Given the description of an element on the screen output the (x, y) to click on. 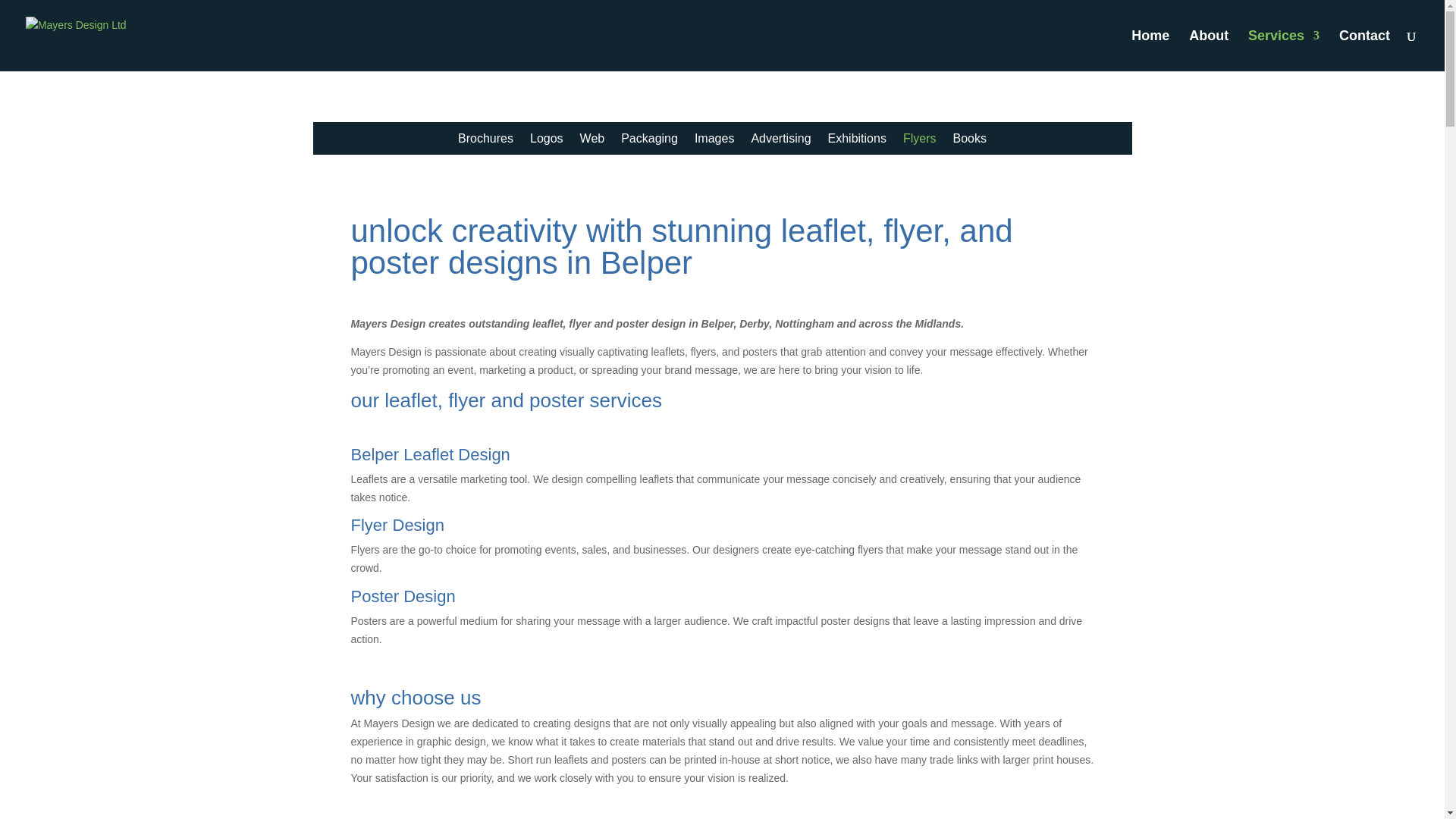
Advertising (780, 140)
Logos (546, 140)
Flyers (919, 140)
Web (592, 140)
About (1208, 50)
Exhibitions (857, 140)
Brochures (485, 140)
Services (1283, 50)
Contact (1364, 50)
Packaging (649, 140)
Images (713, 140)
Books (968, 140)
Home (1150, 50)
